Given the description of an element on the screen output the (x, y) to click on. 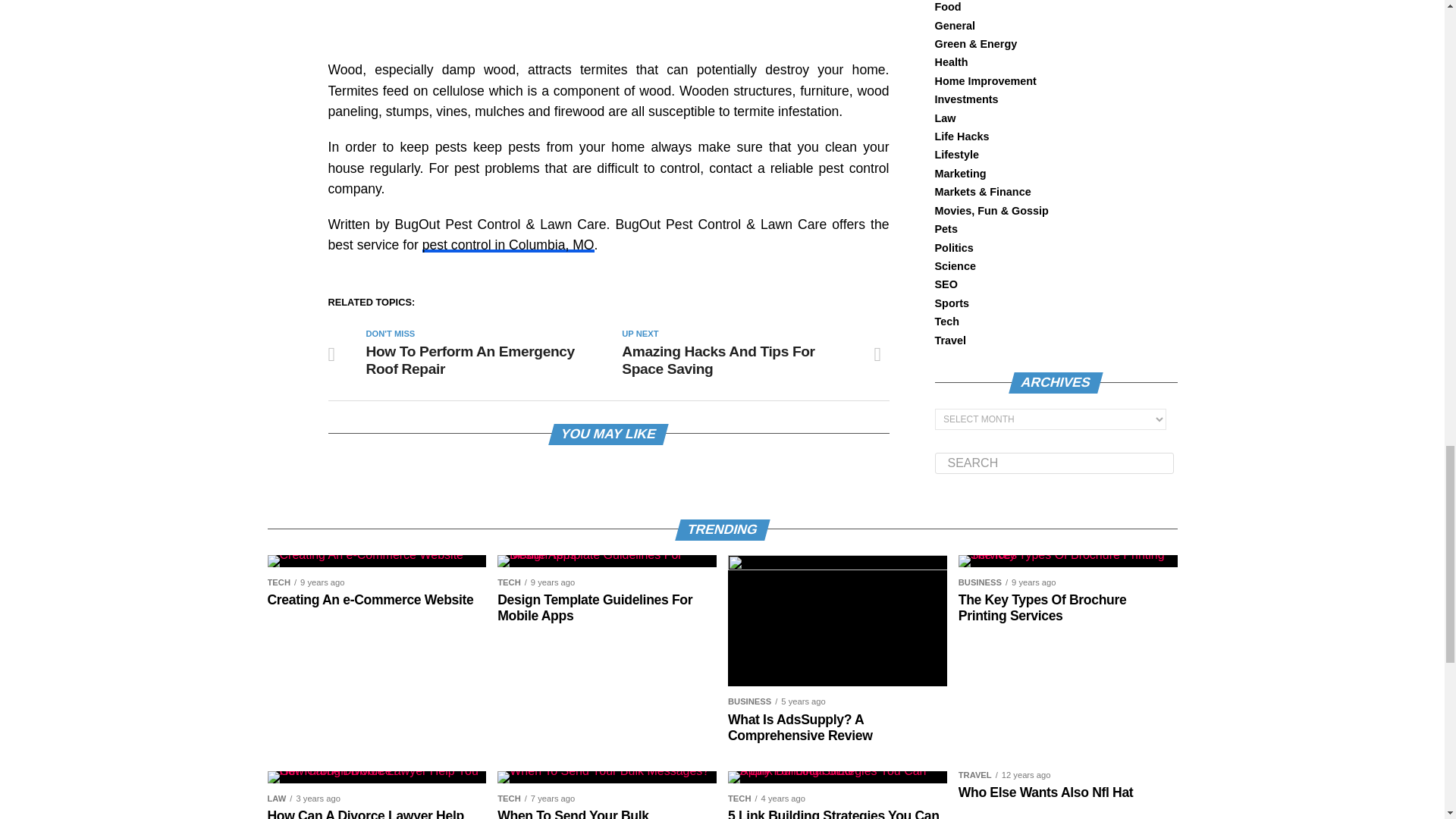
Search (1053, 463)
Things In Your Home That Attract Pests (607, 22)
pest control in Columbia, MO (508, 244)
